Given the description of an element on the screen output the (x, y) to click on. 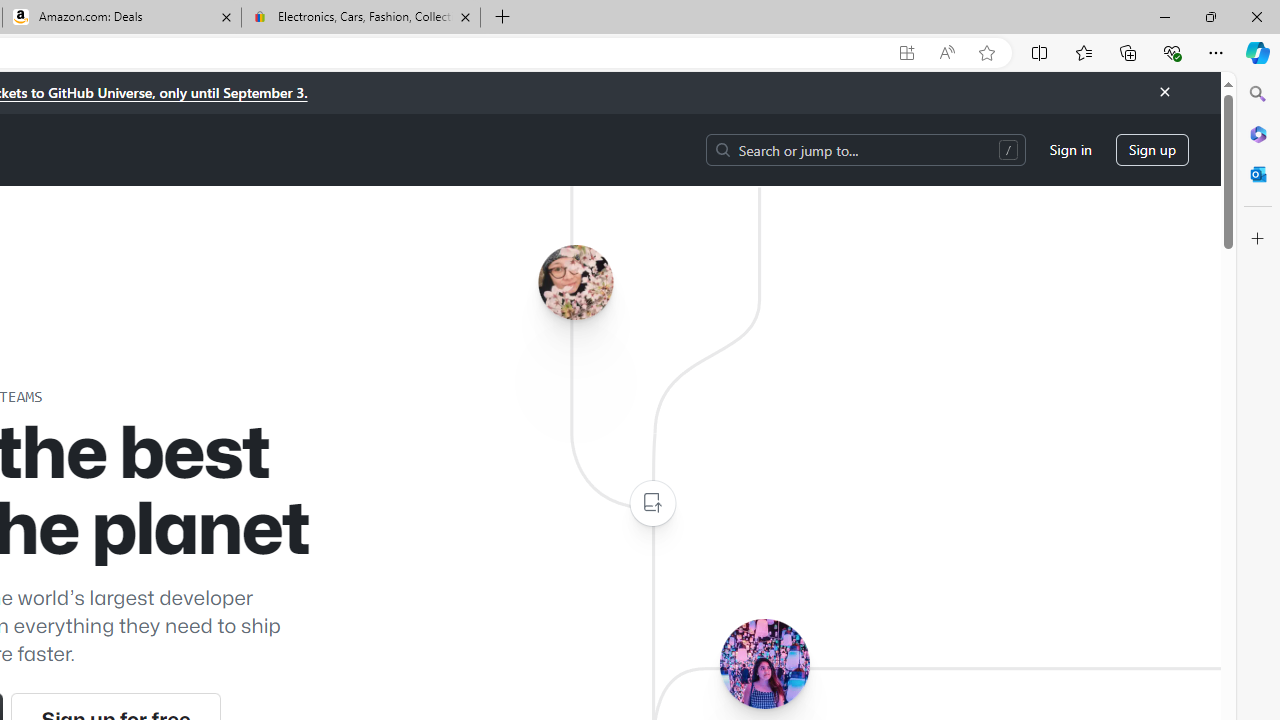
App available. Install GitHub (906, 53)
Class: color-fg-muted width-full (652, 503)
Sign up (1152, 149)
